Given the description of an element on the screen output the (x, y) to click on. 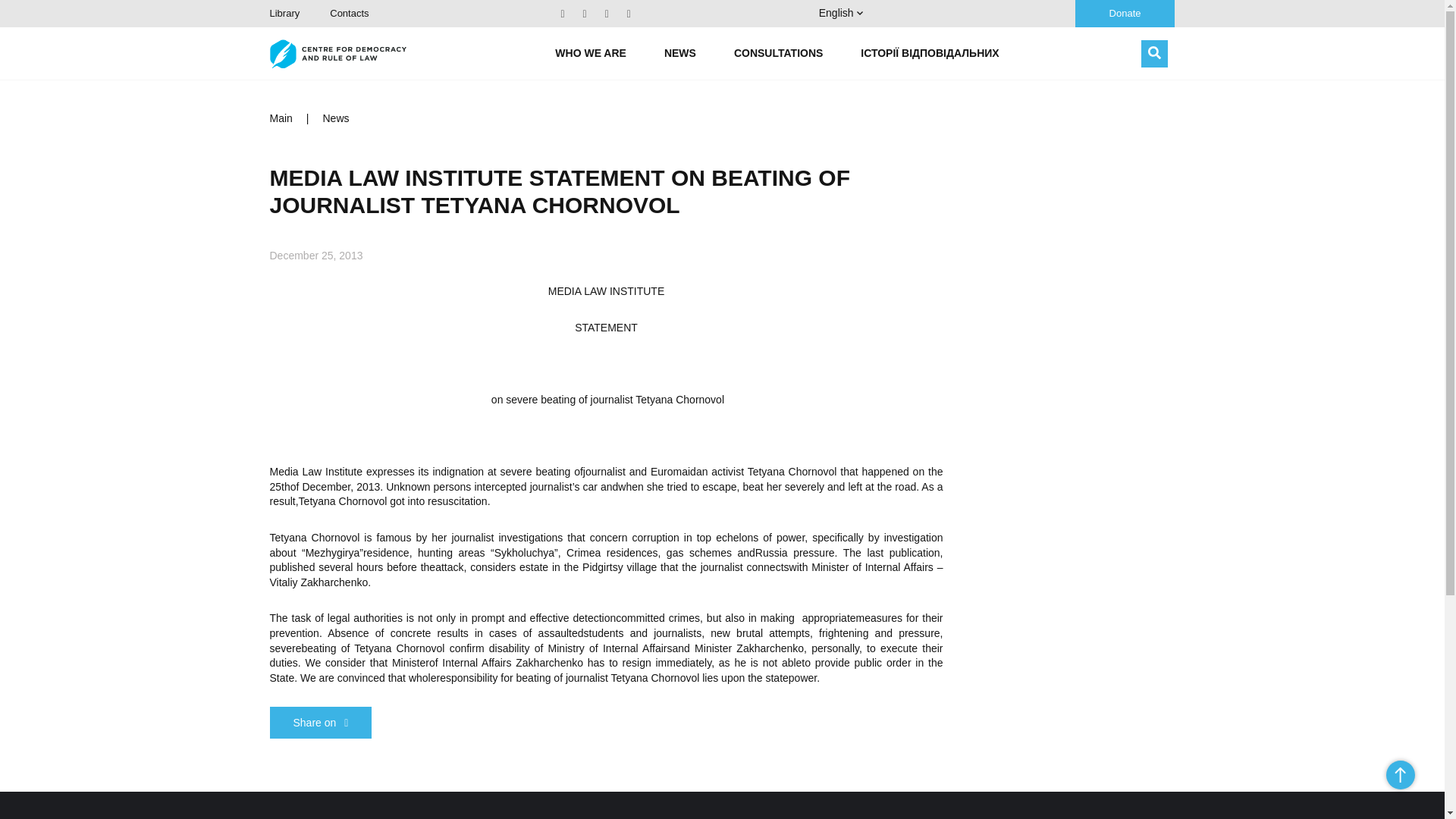
CENTER FOR DEMOCRACY AND RULE OF LAW (337, 53)
Donate (1124, 13)
Contacts (349, 12)
Library (284, 12)
News (336, 118)
WHO WE ARE (590, 53)
Facebook share (320, 722)
CONSULTATIONS (777, 53)
Main (280, 118)
